Given the description of an element on the screen output the (x, y) to click on. 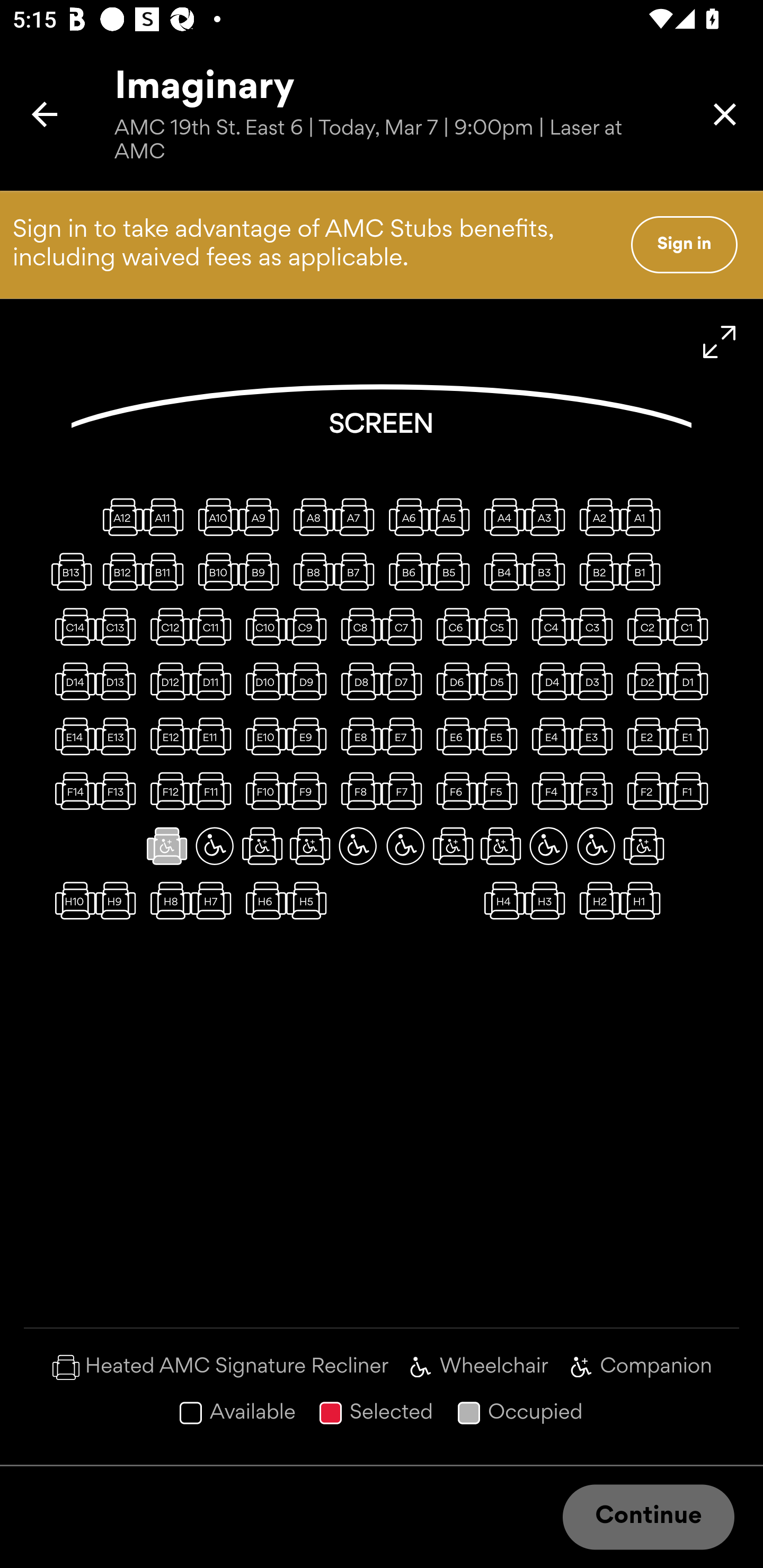
Back (44, 114)
Close (724, 114)
Sign in (684, 244)
Zoom (719, 342)
A12, Regular seat, available (119, 516)
A11, Regular seat, available (166, 516)
A10, Regular seat, available (214, 516)
A9, Regular seat, available (262, 516)
A8, Regular seat, available (310, 516)
A7, Regular seat, available (357, 516)
A6, Regular seat, available (404, 516)
A5, Regular seat, available (452, 516)
A4, Regular seat, available (500, 516)
A3, Regular seat, available (548, 516)
A2, Regular seat, available (595, 516)
A1, Regular seat, available (643, 516)
B13, Regular seat, available (71, 571)
B12, Regular seat, available (119, 571)
B11, Regular seat, available (166, 571)
B10, Regular seat, available (214, 571)
B9, Regular seat, available (262, 571)
B8, Regular seat, available (310, 571)
B7, Regular seat, available (357, 571)
B6, Regular seat, available (404, 571)
B5, Regular seat, available (452, 571)
B4, Regular seat, available (500, 571)
B3, Regular seat, available (548, 571)
B2, Regular seat, available (595, 571)
B1, Regular seat, available (643, 571)
C14, Regular seat, available (71, 625)
C13, Regular seat, available (119, 625)
C12, Regular seat, available (166, 625)
C11, Regular seat, available (214, 625)
C10, Regular seat, available (262, 625)
C9, Regular seat, available (310, 625)
C8, Regular seat, available (357, 625)
C7, Regular seat, available (404, 625)
C6, Regular seat, available (452, 625)
C5, Regular seat, available (500, 625)
C4, Regular seat, available (548, 625)
C3, Regular seat, available (595, 625)
C2, Regular seat, available (643, 625)
C1, Regular seat, available (691, 625)
D14, Regular seat, available (71, 680)
D13, Regular seat, available (119, 680)
D12, Regular seat, available (166, 680)
D11, Regular seat, available (214, 680)
D10, Regular seat, available (262, 680)
D9, Regular seat, available (310, 680)
D8, Regular seat, available (357, 680)
D7, Regular seat, available (404, 680)
D6, Regular seat, available (452, 680)
D5, Regular seat, available (500, 680)
D4, Regular seat, available (548, 680)
D3, Regular seat, available (595, 680)
D2, Regular seat, available (643, 680)
D1, Regular seat, available (691, 680)
E14, Regular seat, available (71, 735)
E13, Regular seat, available (119, 735)
E12, Regular seat, available (166, 735)
E11, Regular seat, available (214, 735)
E10, Regular seat, available (262, 735)
E9, Regular seat, available (310, 735)
E8, Regular seat, available (357, 735)
E7, Regular seat, available (404, 735)
E6, Regular seat, available (452, 735)
E5, Regular seat, available (500, 735)
E4, Regular seat, available (548, 735)
E3, Regular seat, available (595, 735)
E2, Regular seat, available (643, 735)
E1, Regular seat, available (691, 735)
F14, Regular seat, available (71, 790)
F13, Regular seat, available (119, 790)
F12, Regular seat, available (166, 790)
F11, Regular seat, available (214, 790)
F10, Regular seat, available (262, 790)
F9, Regular seat, available (310, 790)
F8, Regular seat, available (357, 790)
F7, Regular seat, available (404, 790)
F6, Regular seat, available (452, 790)
F5, Regular seat, available (500, 790)
F4, Regular seat, available (548, 790)
F3, Regular seat, available (595, 790)
F2, Regular seat, available (643, 790)
F1, Regular seat, available (691, 790)
G10, Wheelchair space, available (214, 845)
G9, Wheelchair companion seat, available (262, 845)
G8, Wheelchair companion seat, available (310, 845)
G7, Wheelchair space, available (357, 845)
G6, Wheelchair space, available (404, 845)
G5, Wheelchair companion seat, available (452, 845)
G4, Wheelchair companion seat, available (500, 845)
G3, Wheelchair space, available (548, 845)
G2, Wheelchair space, available (595, 845)
G1, Wheelchair companion seat, available (643, 845)
H10, Regular seat, available (71, 900)
H9, Regular seat, available (119, 900)
H8, Regular seat, available (166, 900)
H7, Regular seat, available (214, 900)
H6, Regular seat, available (262, 900)
H5, Regular seat, available (310, 900)
H4, Regular seat, available (500, 900)
H3, Regular seat, available (548, 900)
H2, Regular seat, available (595, 900)
H1, Regular seat, available (643, 900)
